Given the description of an element on the screen output the (x, y) to click on. 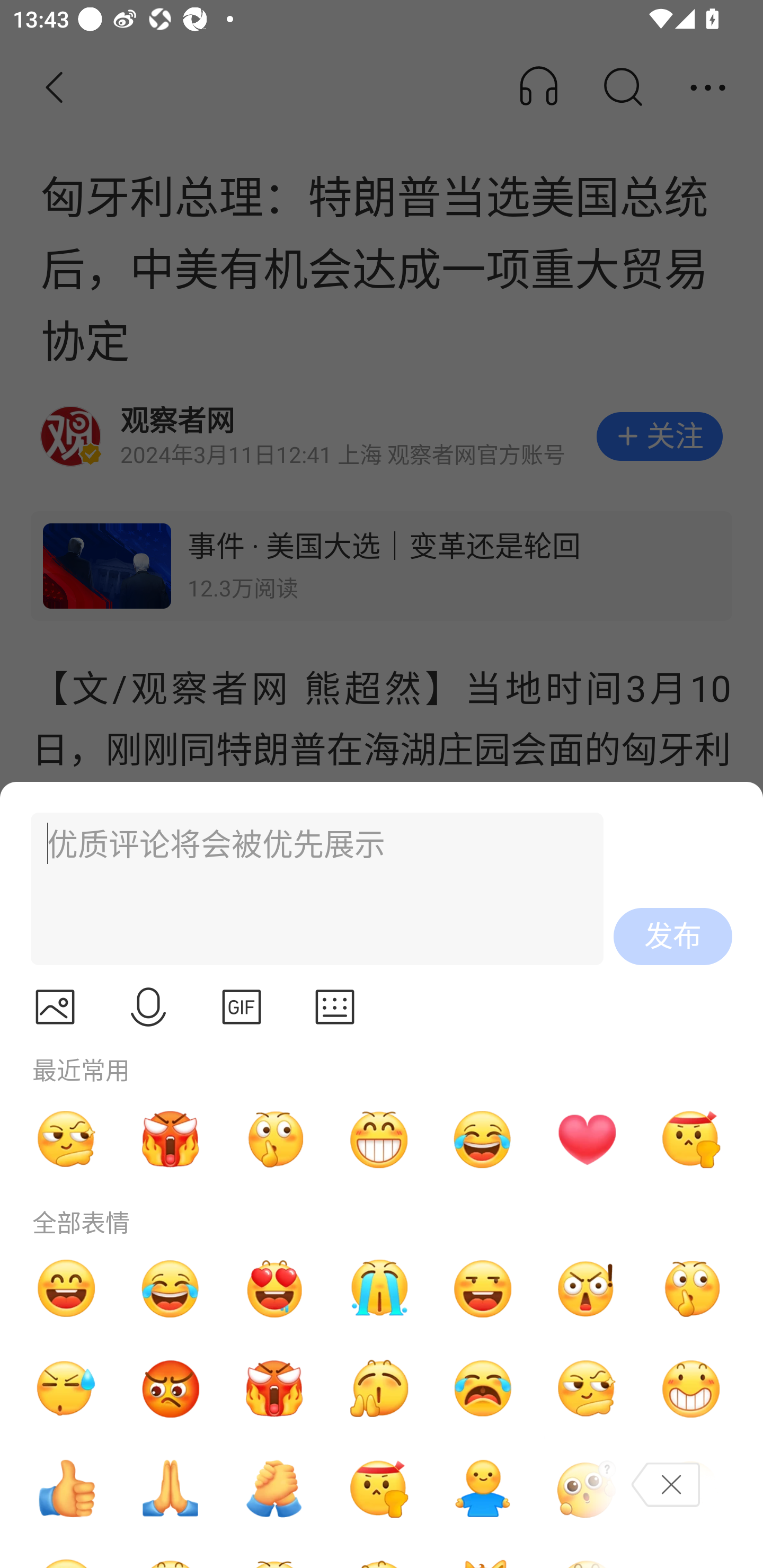
优质评论将会被优先展示 (308, 888)
发布 (672, 936)
 (54, 1007)
 (148, 1007)
 (241, 1007)
 (334, 1007)
机智 (66, 1138)
愤怒 (170, 1138)
嘘 (274, 1138)
呲牙 (378, 1138)
哭笑 (482, 1138)
心 (586, 1138)
奋斗 (690, 1138)
哈哈 (66, 1288)
哭笑 (170, 1288)
喜欢 (274, 1288)
哭 (378, 1288)
嘿嘿 (482, 1288)
吃惊 (586, 1288)
嘘 (690, 1288)
汗 (66, 1389)
生气 (170, 1389)
愤怒 (274, 1389)
喝彩 (378, 1389)
抓狂 (482, 1389)
机智 (586, 1389)
坏笑 (690, 1389)
点赞 (66, 1488)
缅怀 (170, 1488)
加油 (274, 1488)
奋斗 (378, 1488)
抱抱 (482, 1488)
疑问 (586, 1488)
